Given the description of an element on the screen output the (x, y) to click on. 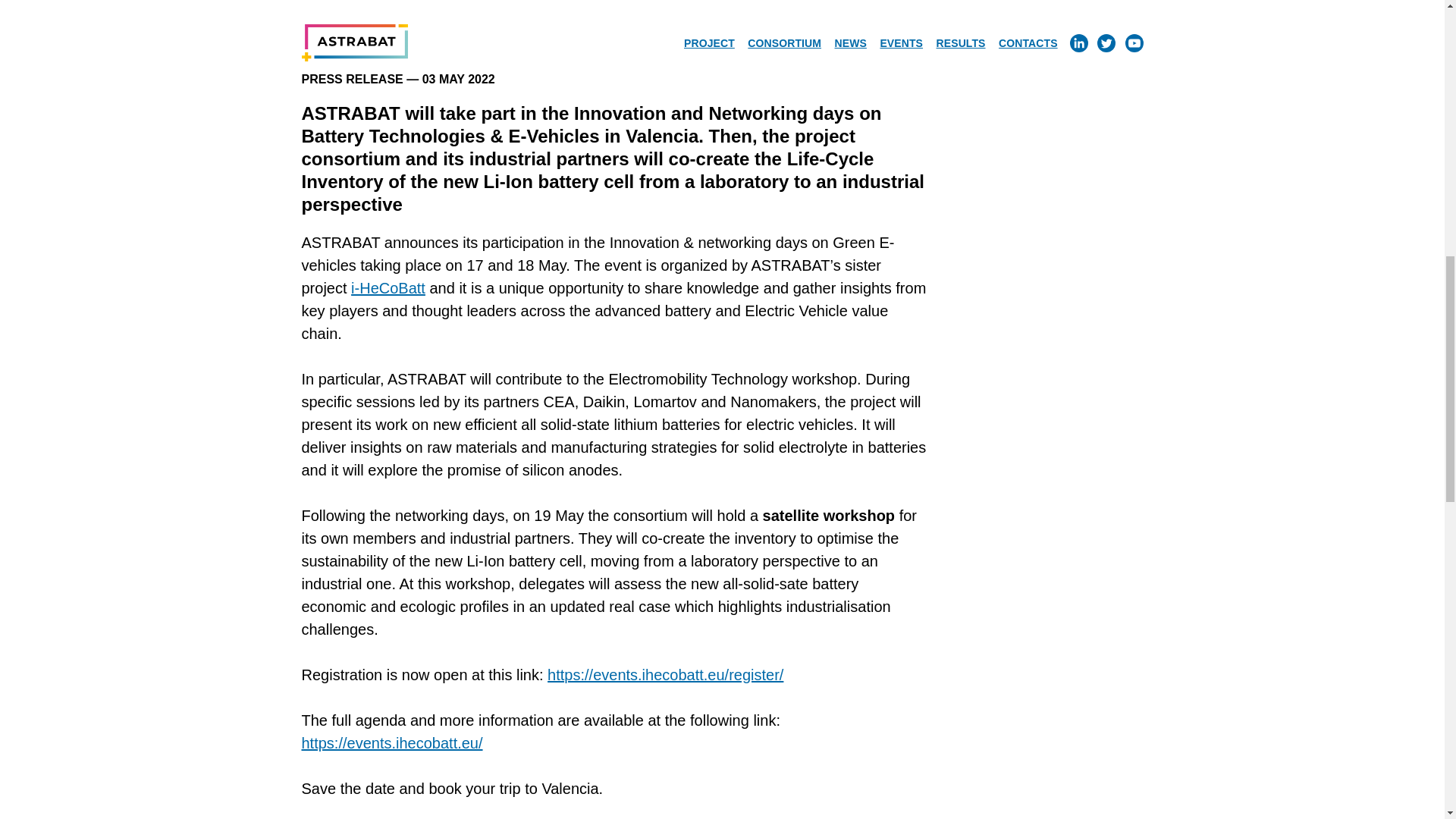
i-HeCoBatt (387, 288)
